Given the description of an element on the screen output the (x, y) to click on. 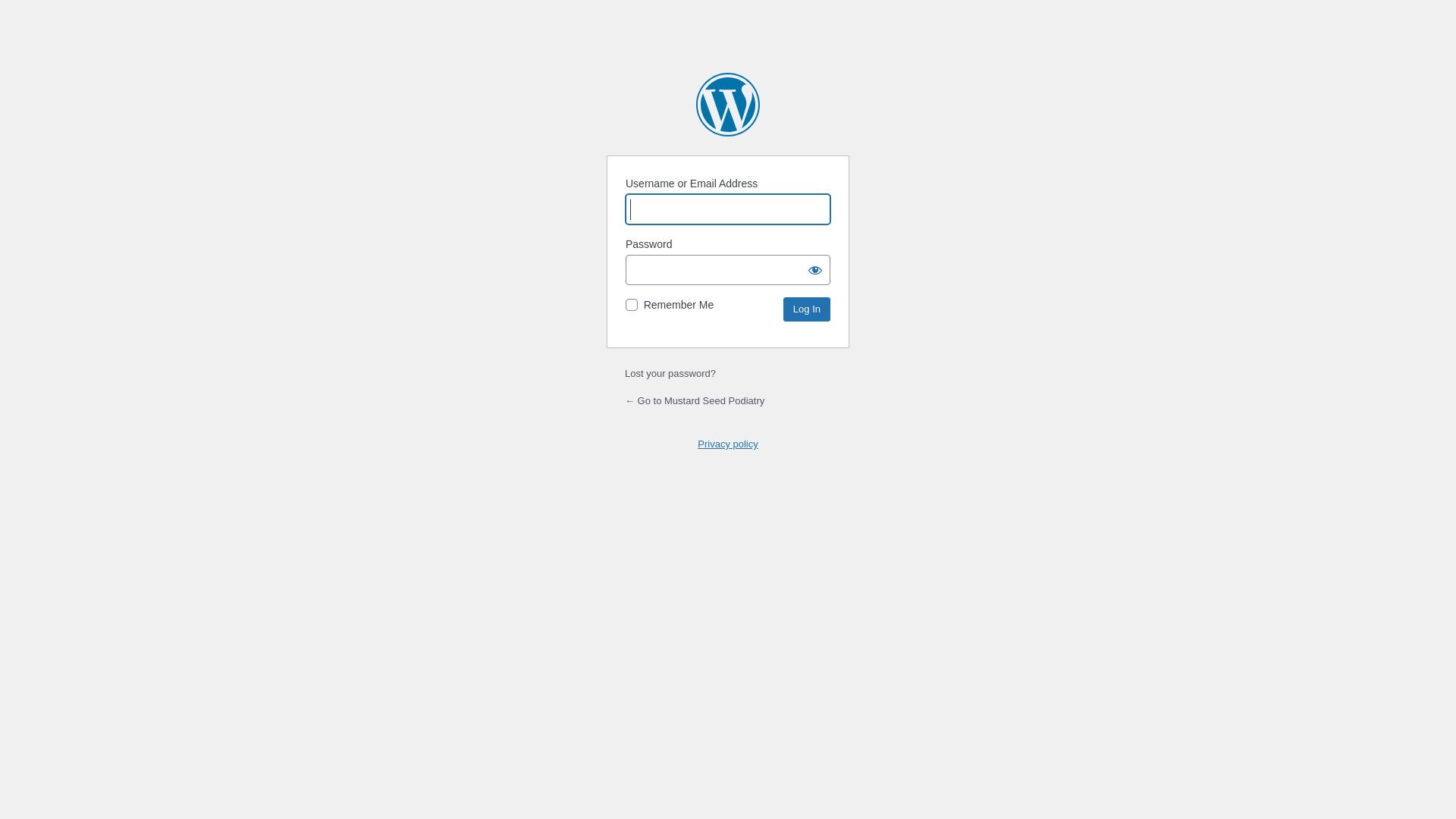
Privacy policy Element type: text (727, 443)
Log In Element type: text (806, 309)
Powered by WordPress Element type: text (727, 104)
Lost your password? Element type: text (669, 373)
